Given the description of an element on the screen output the (x, y) to click on. 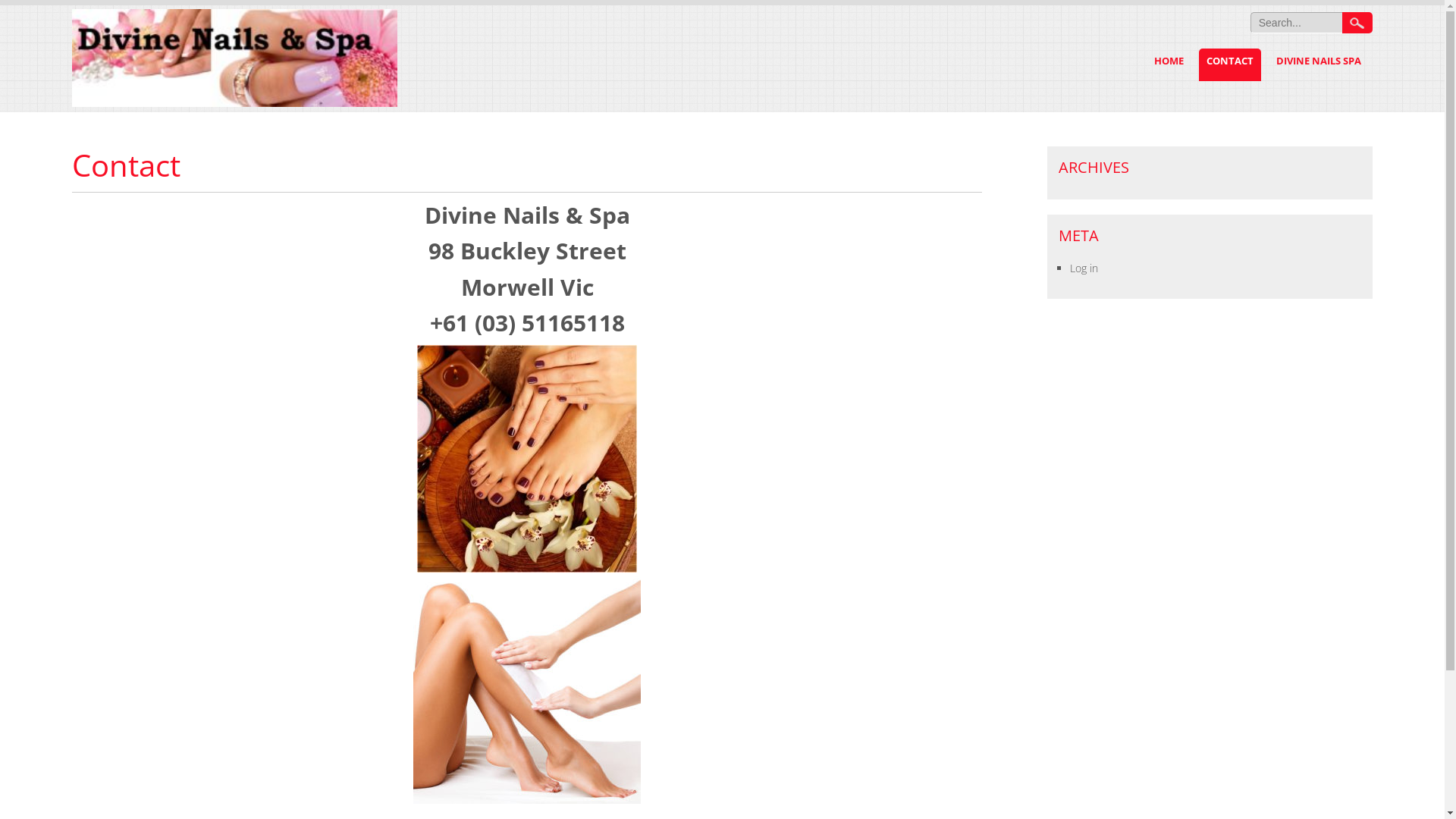
HOME Element type: text (1168, 64)
DIVINE NAILS SPA Element type: text (1318, 64)
Log in Element type: text (1084, 267)
Search Element type: text (1357, 22)
CONTACT Element type: text (1229, 64)
